Given the description of an element on the screen output the (x, y) to click on. 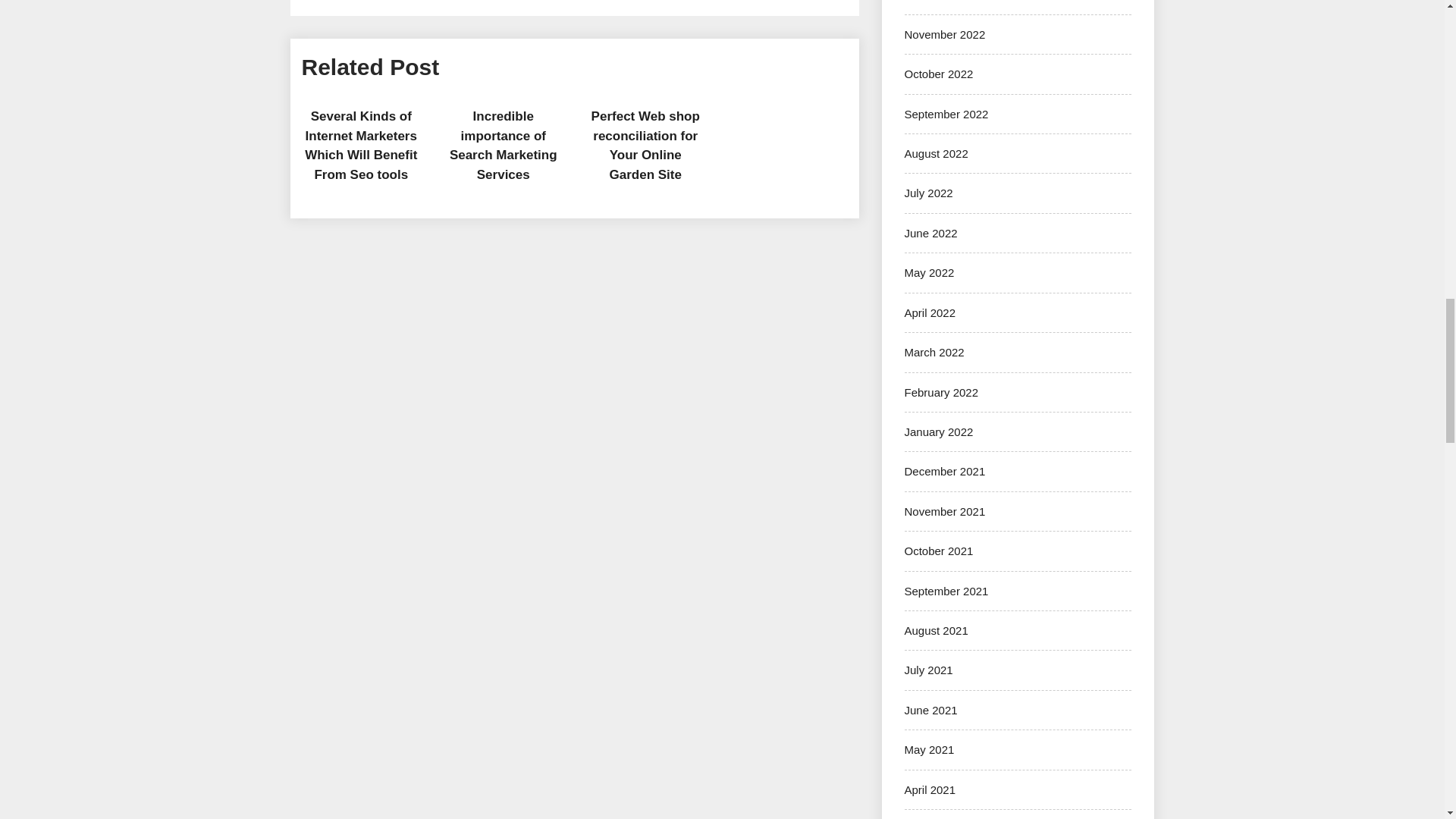
Incredible importance of Search Marketing Services (503, 144)
Perfect Web shop reconciliation for Your Online Garden Site (645, 144)
